Given the description of an element on the screen output the (x, y) to click on. 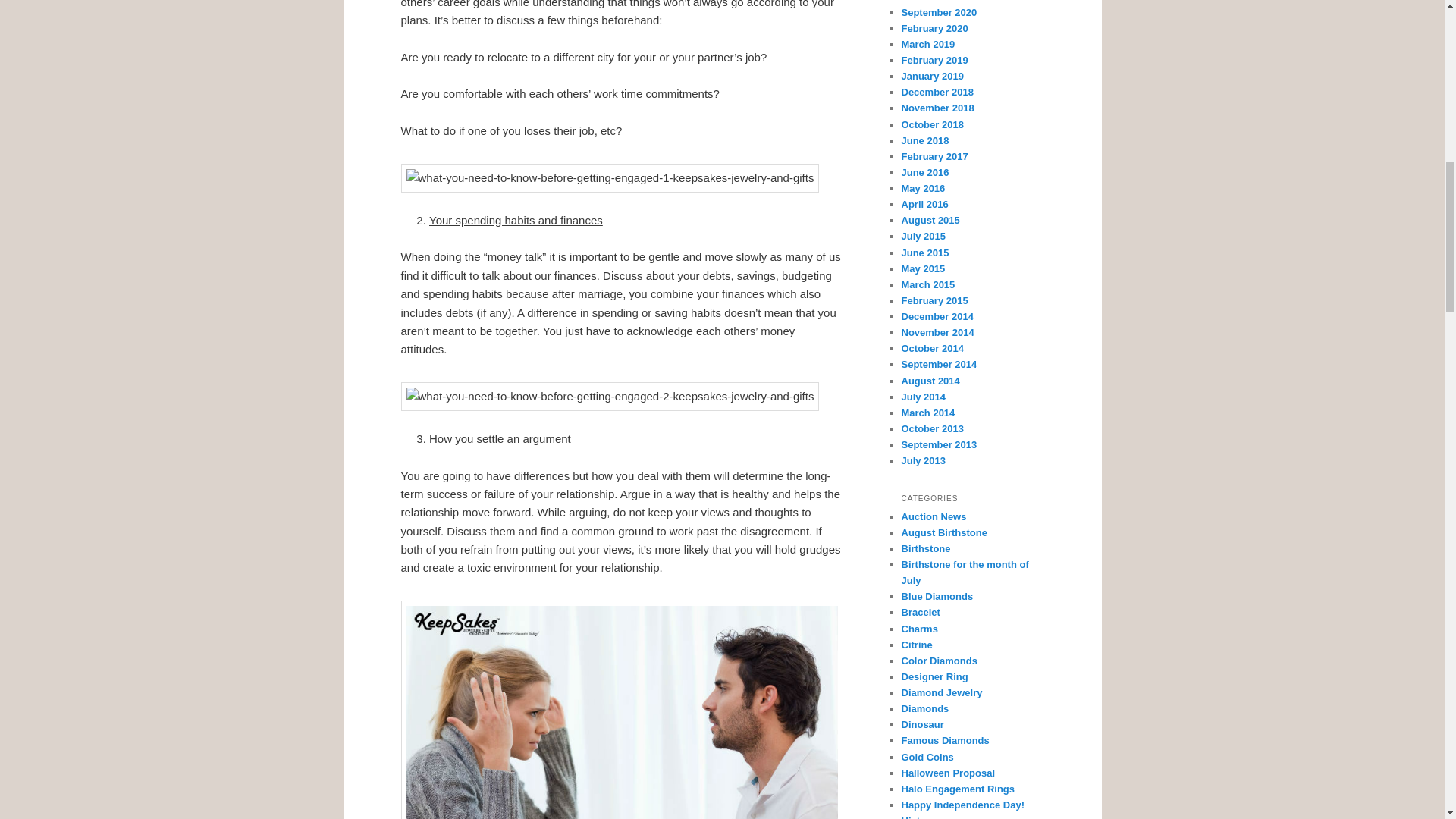
Read articles about world famous Diamonds and their facts. (944, 740)
